Given the description of an element on the screen output the (x, y) to click on. 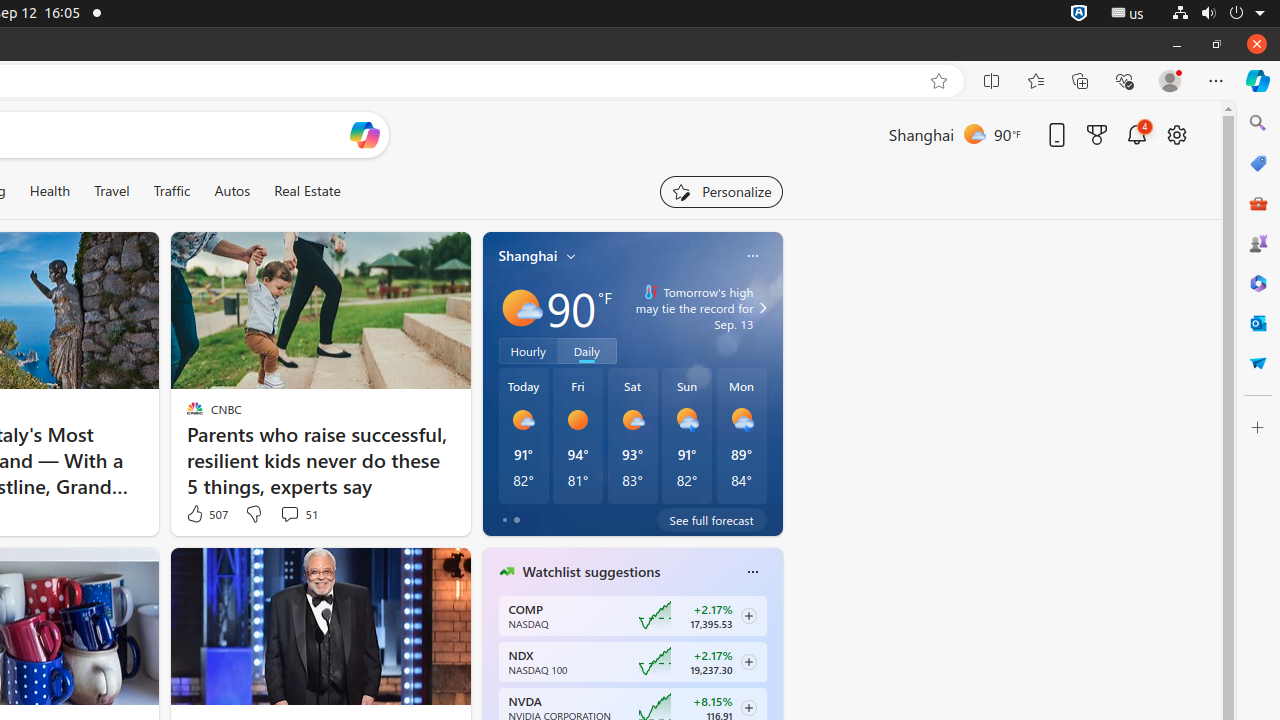
Customize Element type: push-button (1258, 428)
Shanghai Element type: link (528, 256)
Collections Element type: push-button (1080, 81)
View comments 51 Comment Element type: push-button (289, 513)
:1.21/StatusNotifierItem Element type: menu (1127, 13)
